Given the description of an element on the screen output the (x, y) to click on. 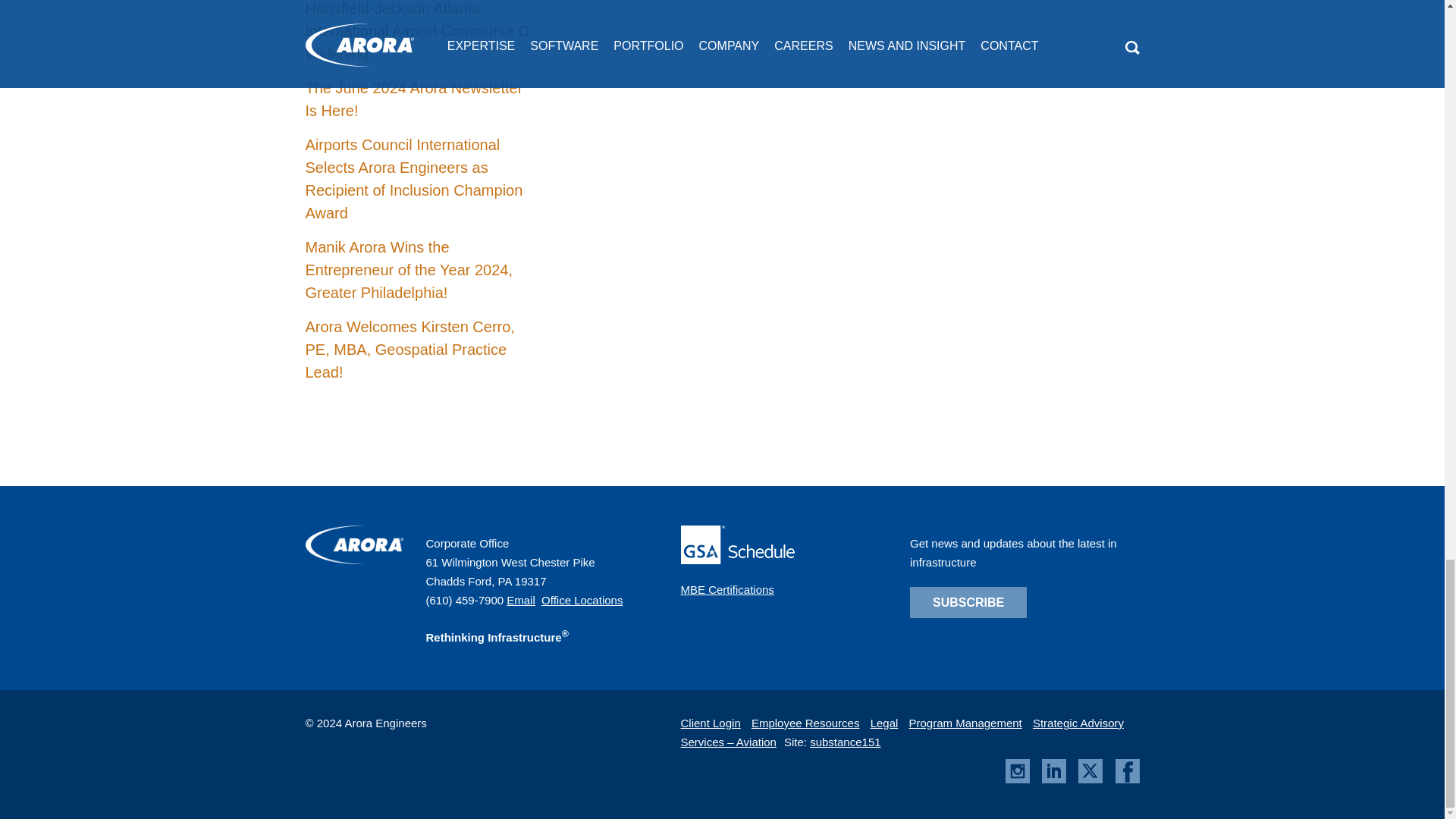
X Twitter (1090, 770)
Facebook (1126, 779)
Instagram (1017, 779)
Instagram (1017, 770)
LinkedIn (1053, 770)
X Twitter (1090, 779)
Facebook (1126, 770)
Arora Engineers (353, 559)
GSA Schedule Logo (737, 545)
LinkedIn (1053, 779)
